Given the description of an element on the screen output the (x, y) to click on. 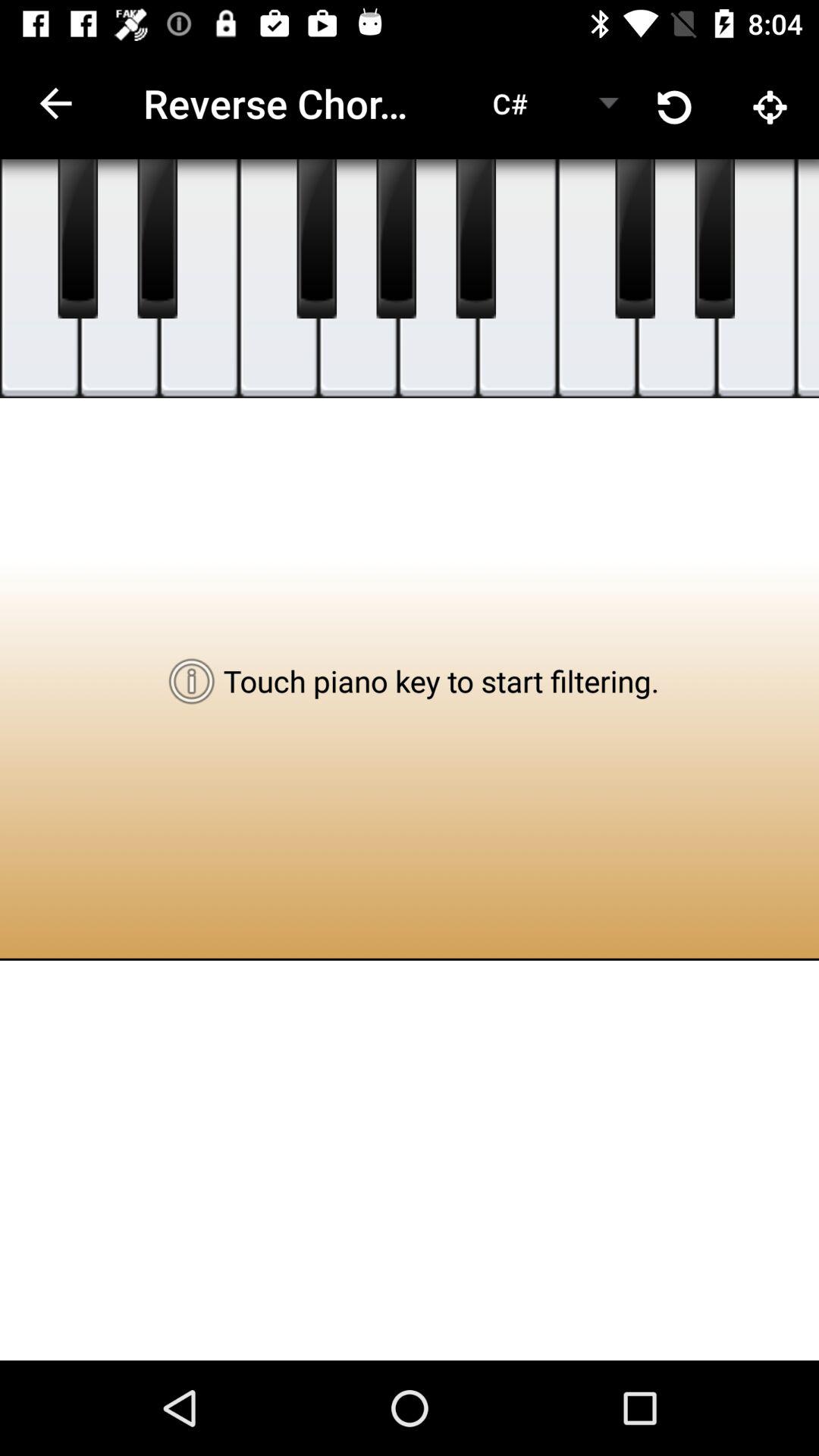
play the sound (676, 278)
